Given the description of an element on the screen output the (x, y) to click on. 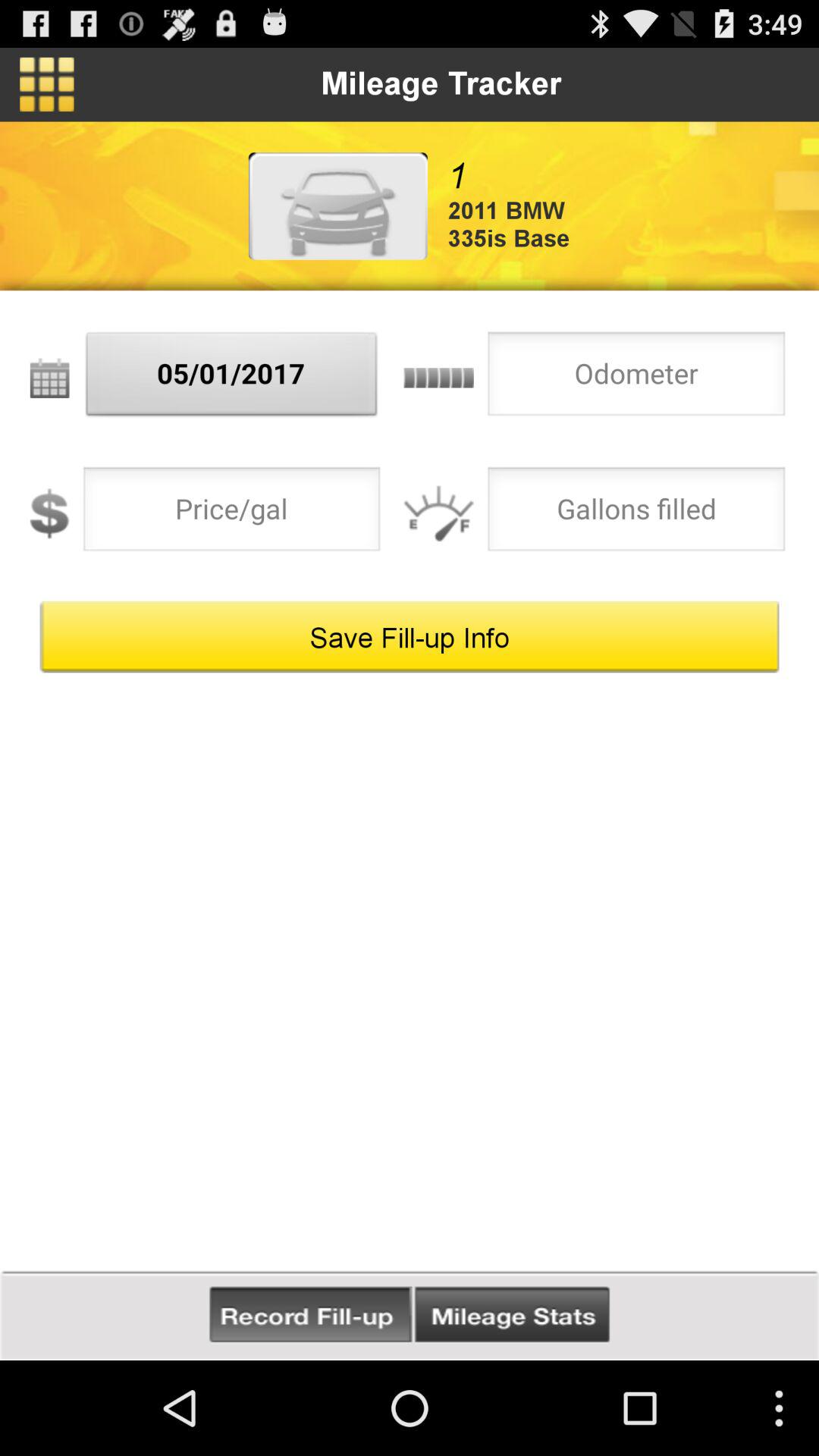
swipe until the save fill up button (409, 636)
